Given the description of an element on the screen output the (x, y) to click on. 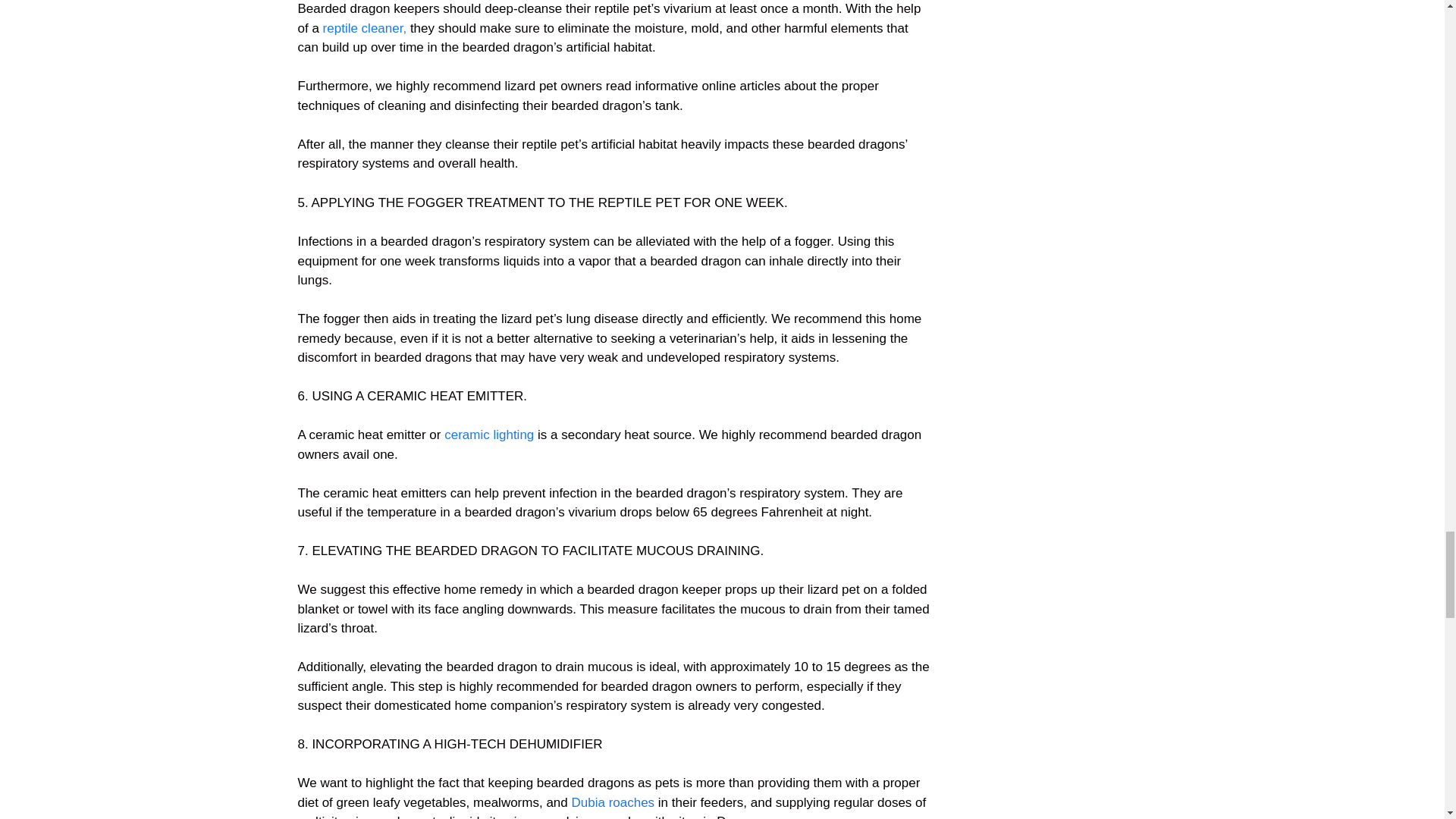
ceramic lighting (489, 434)
Dubia roaches (611, 802)
reptile cleaner, (365, 28)
